Given the description of an element on the screen output the (x, y) to click on. 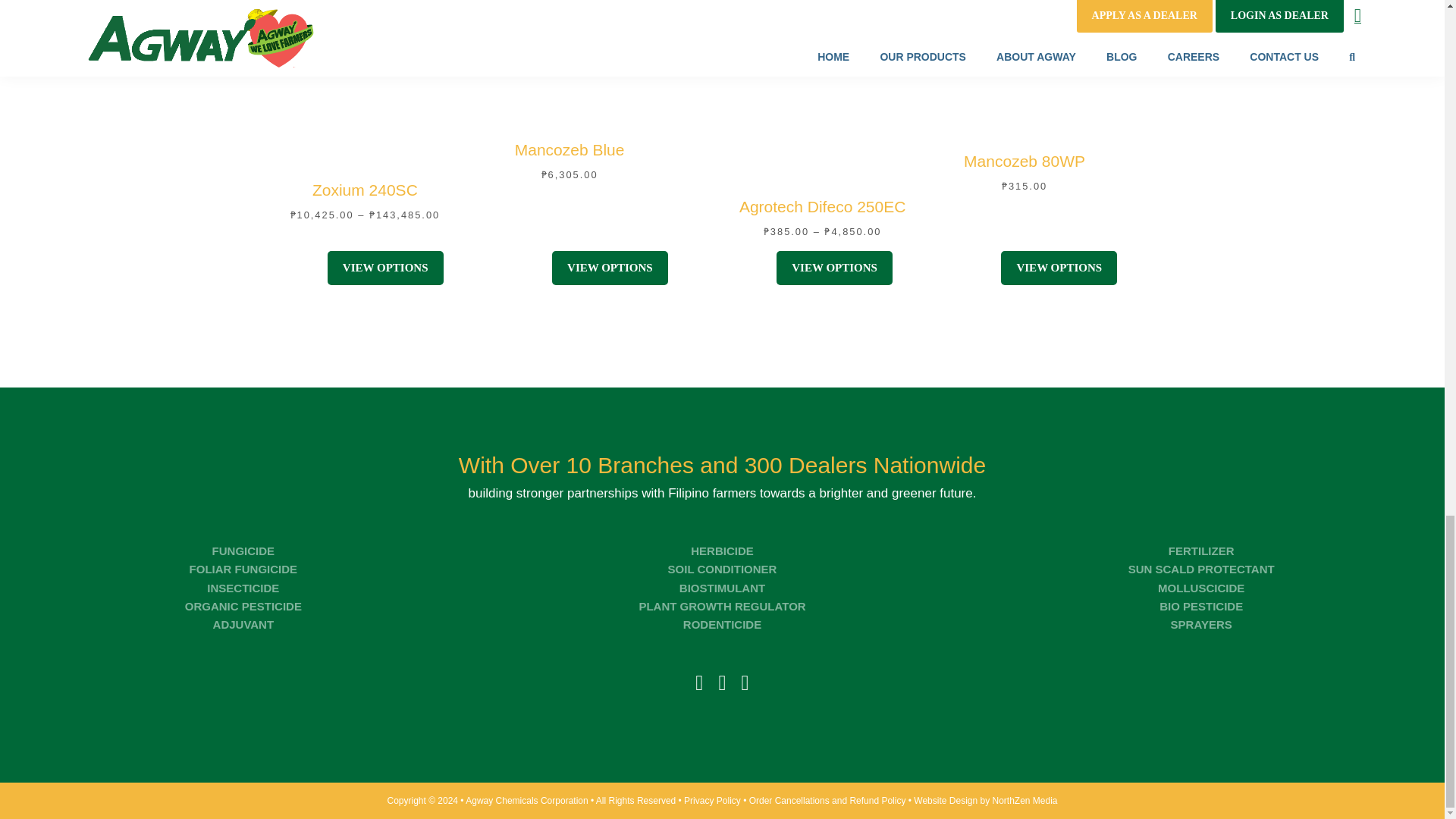
VIEW OPTIONS (385, 267)
VIEW OPTIONS (609, 267)
FUNGICIDE (243, 550)
VIEW OPTIONS (1058, 267)
VIEW OPTIONS (834, 267)
FOLIAR FUNGICIDE (243, 568)
